Given the description of an element on the screen output the (x, y) to click on. 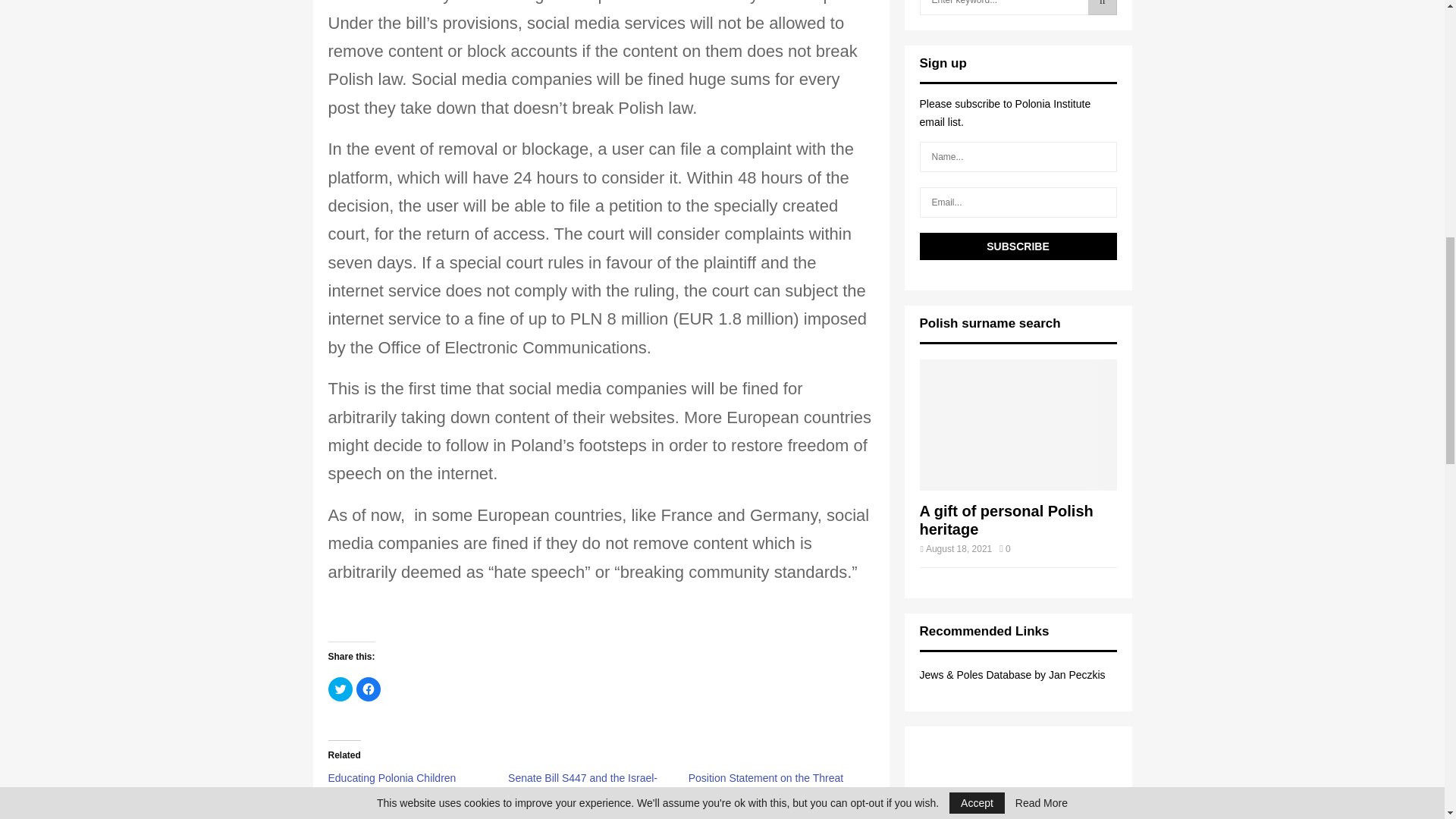
Click to share on Twitter (339, 689)
Click to share on Facebook (368, 689)
Senate Bill S447 and the Israel-Germany Luxembourg Agreement (588, 785)
Educating Polonia Children (391, 777)
Subscribe (1017, 246)
